Given the description of an element on the screen output the (x, y) to click on. 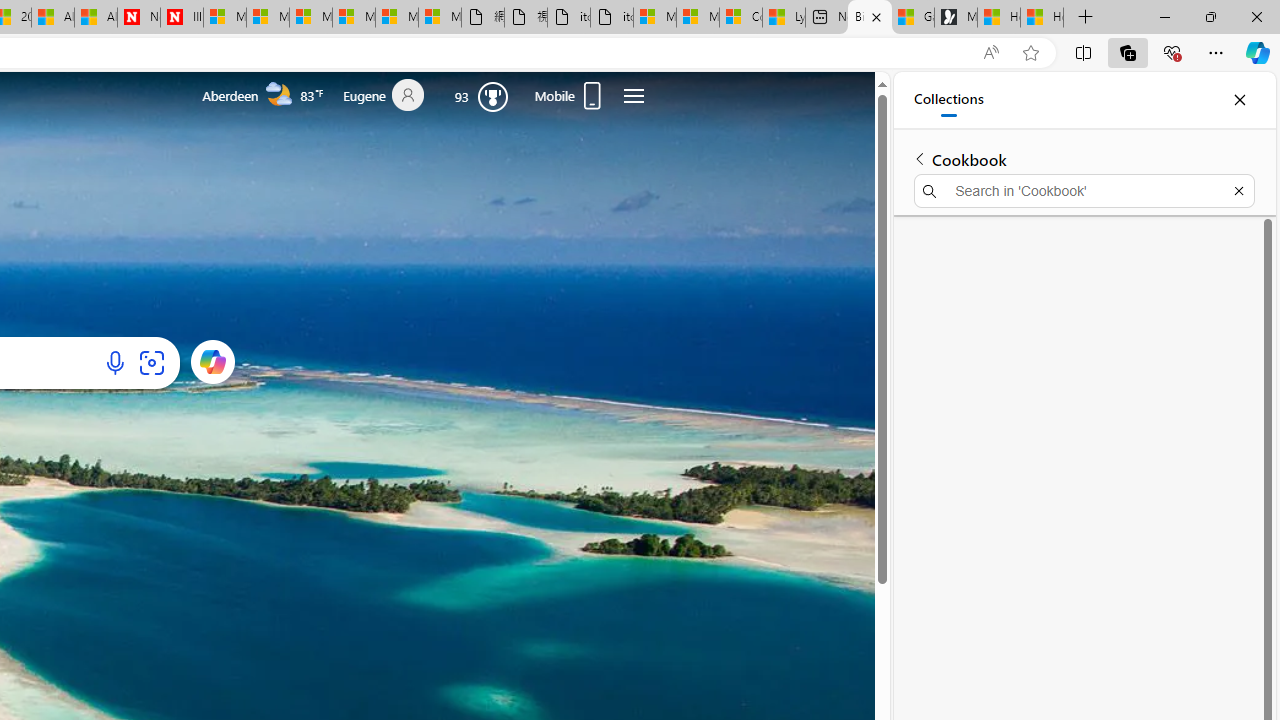
Search in 'Cookbook' (1084, 190)
itconcepthk.com/projector_solutions.mp4 (612, 17)
Bing (869, 17)
Search using voice (115, 362)
How to Use a TV as a Computer Monitor (1042, 17)
Exit search (1238, 190)
